Given the description of an element on the screen output the (x, y) to click on. 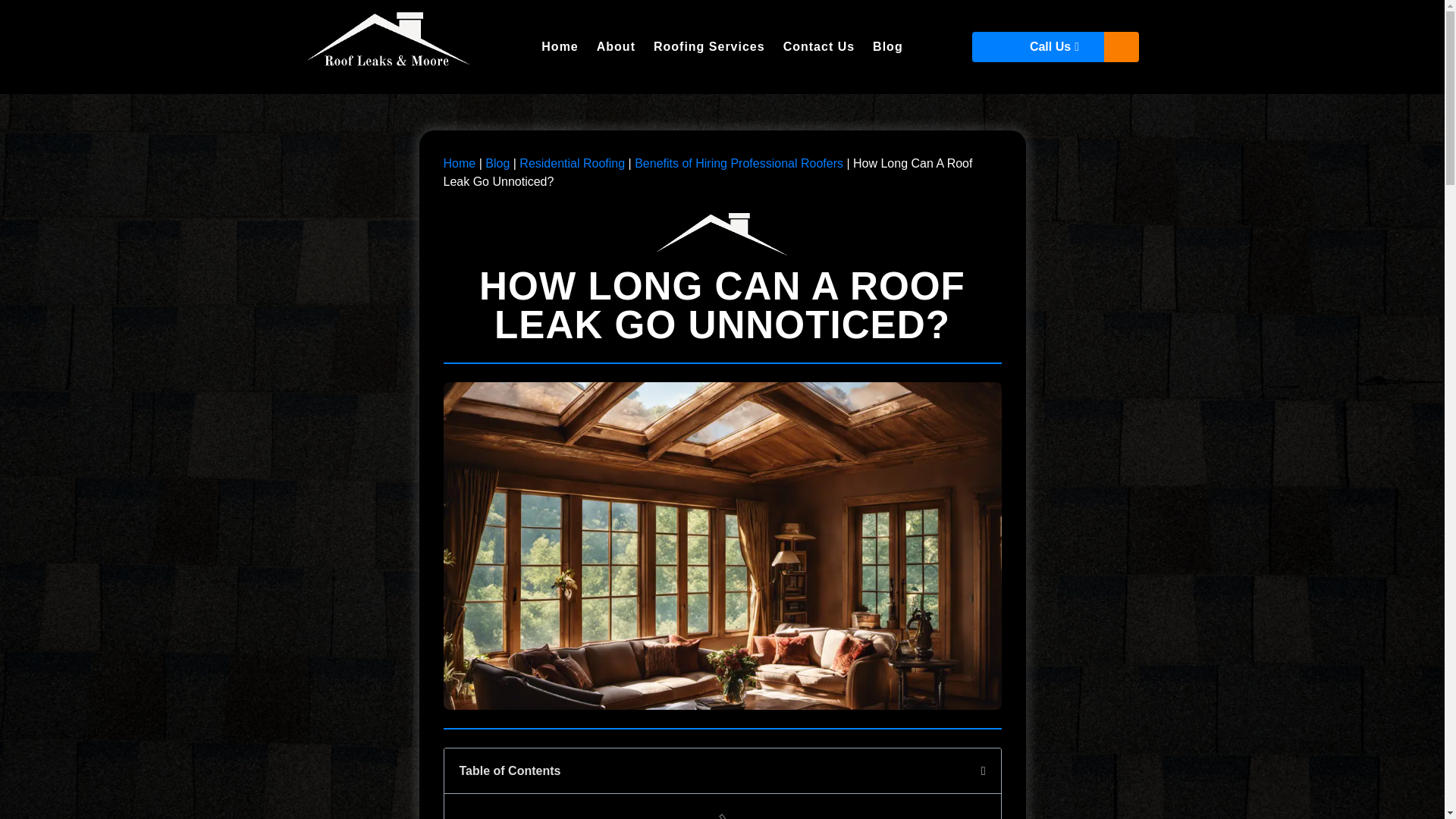
Benefits of Hiring Professional Roofers (738, 163)
Blog (496, 163)
Home (559, 46)
Home (459, 163)
Home (459, 163)
Residential Roofing (571, 163)
Roofing Services (709, 46)
About (615, 46)
Benefits of Hiring Professional Roofers (738, 163)
Blog (496, 163)
Residential Roofing (571, 163)
Call Us (1055, 46)
Contact Us (818, 46)
Blog (887, 46)
